Given the description of an element on the screen output the (x, y) to click on. 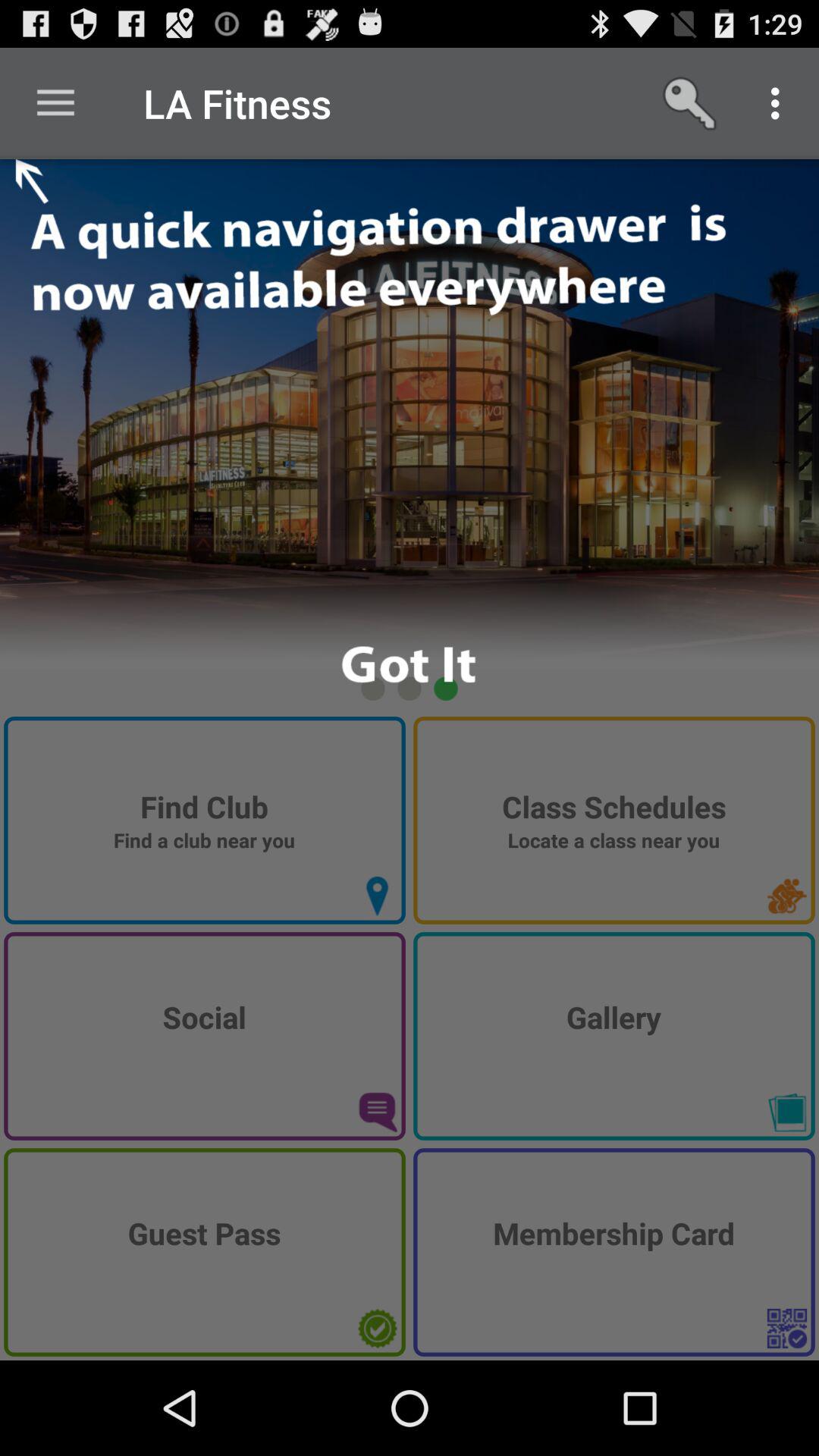
press the icon to the right of the la fitness item (691, 103)
